Given the description of an element on the screen output the (x, y) to click on. 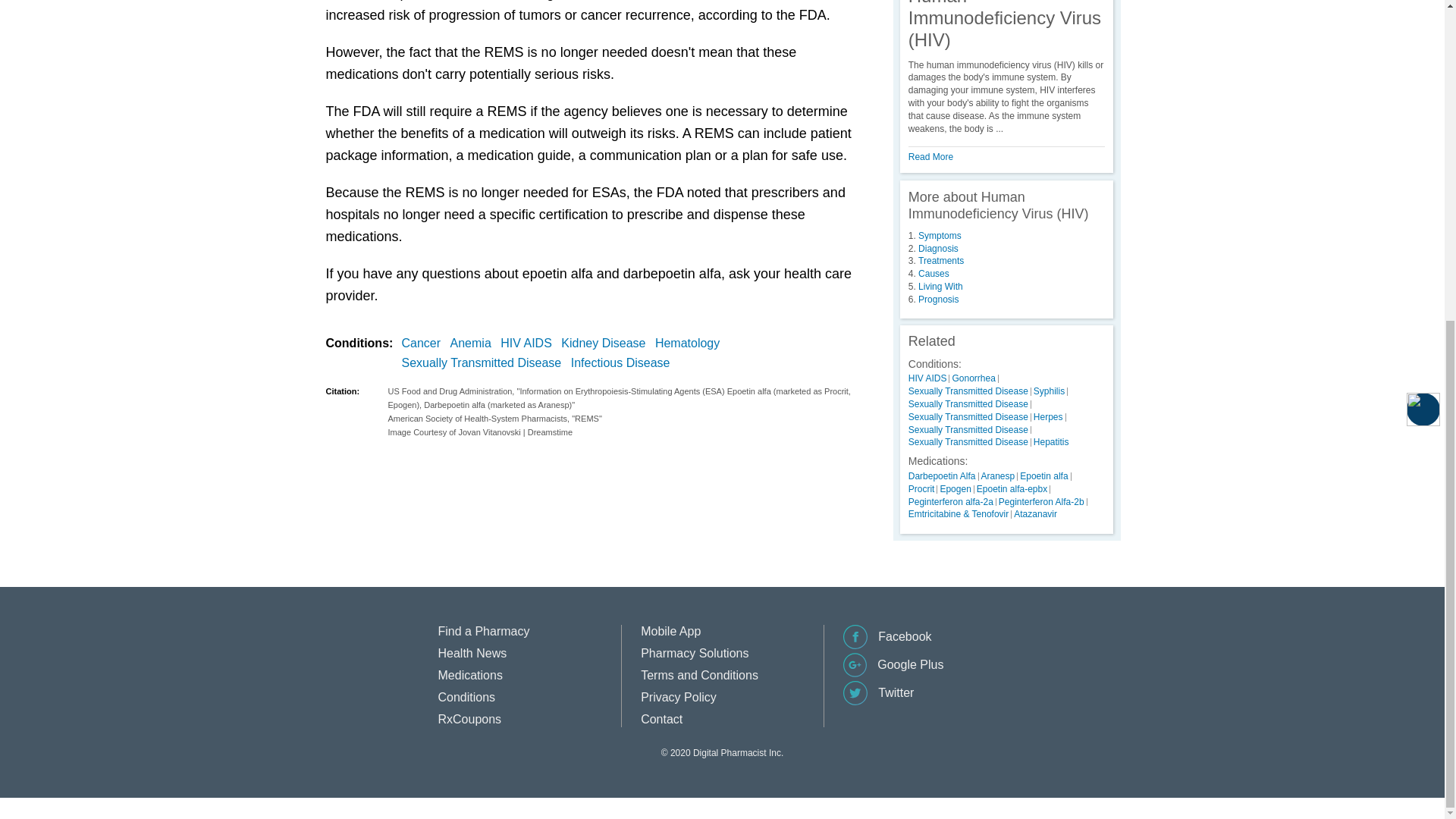
American Society of Health-System Pharmacists, "REMS" (630, 418)
Hematology (690, 342)
HIV AIDS (528, 342)
Anemia (473, 342)
Sexually Transmitted Disease (484, 362)
Cancer (423, 342)
Infectious Disease (623, 362)
Kidney Disease (605, 342)
